Given the description of an element on the screen output the (x, y) to click on. 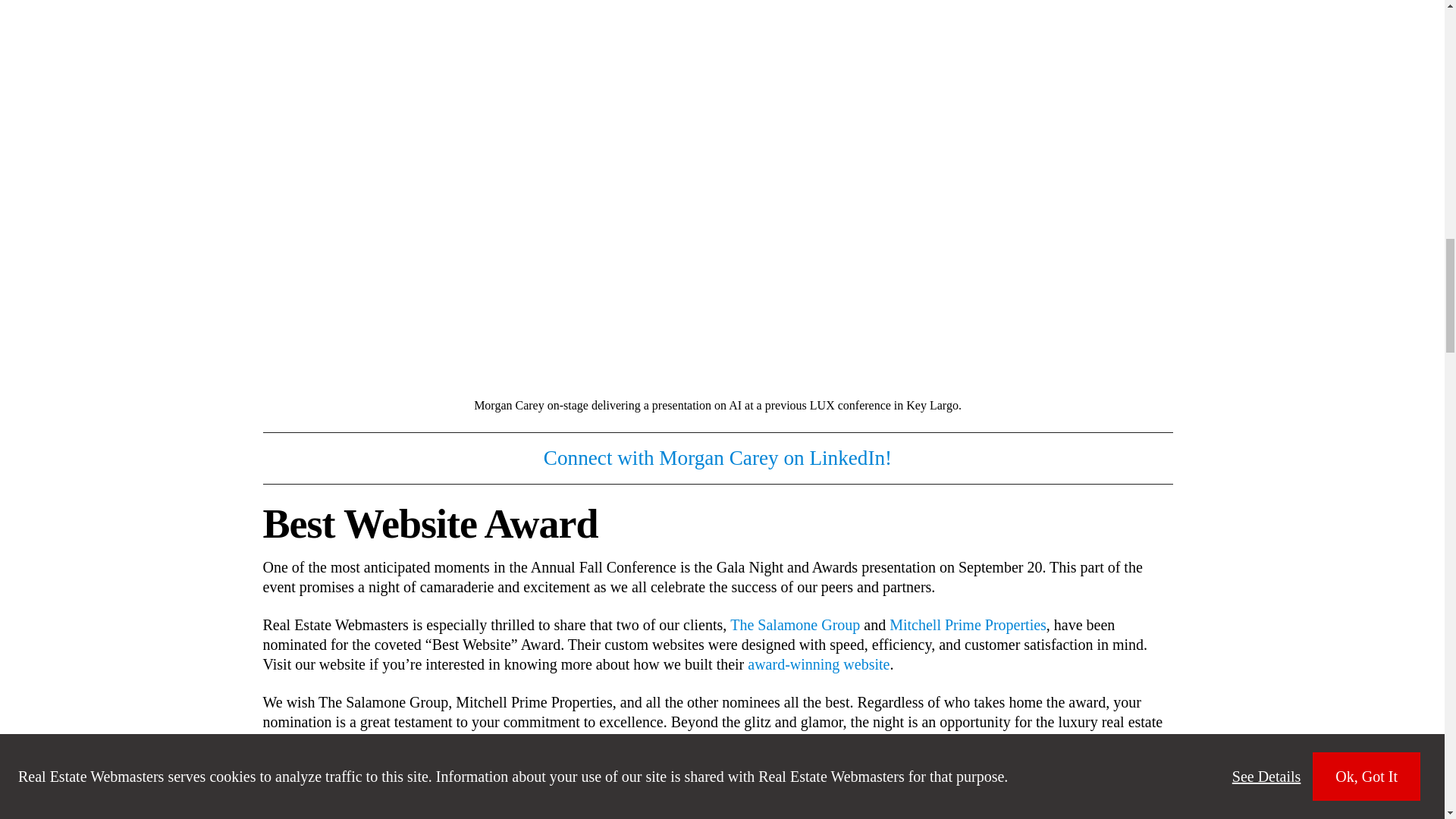
Connect with Morgan Carey on LinkedIn! (717, 458)
award-winning website (818, 664)
Mitchell Prime Properties (967, 624)
The Salamone Group (795, 624)
